Given the description of an element on the screen output the (x, y) to click on. 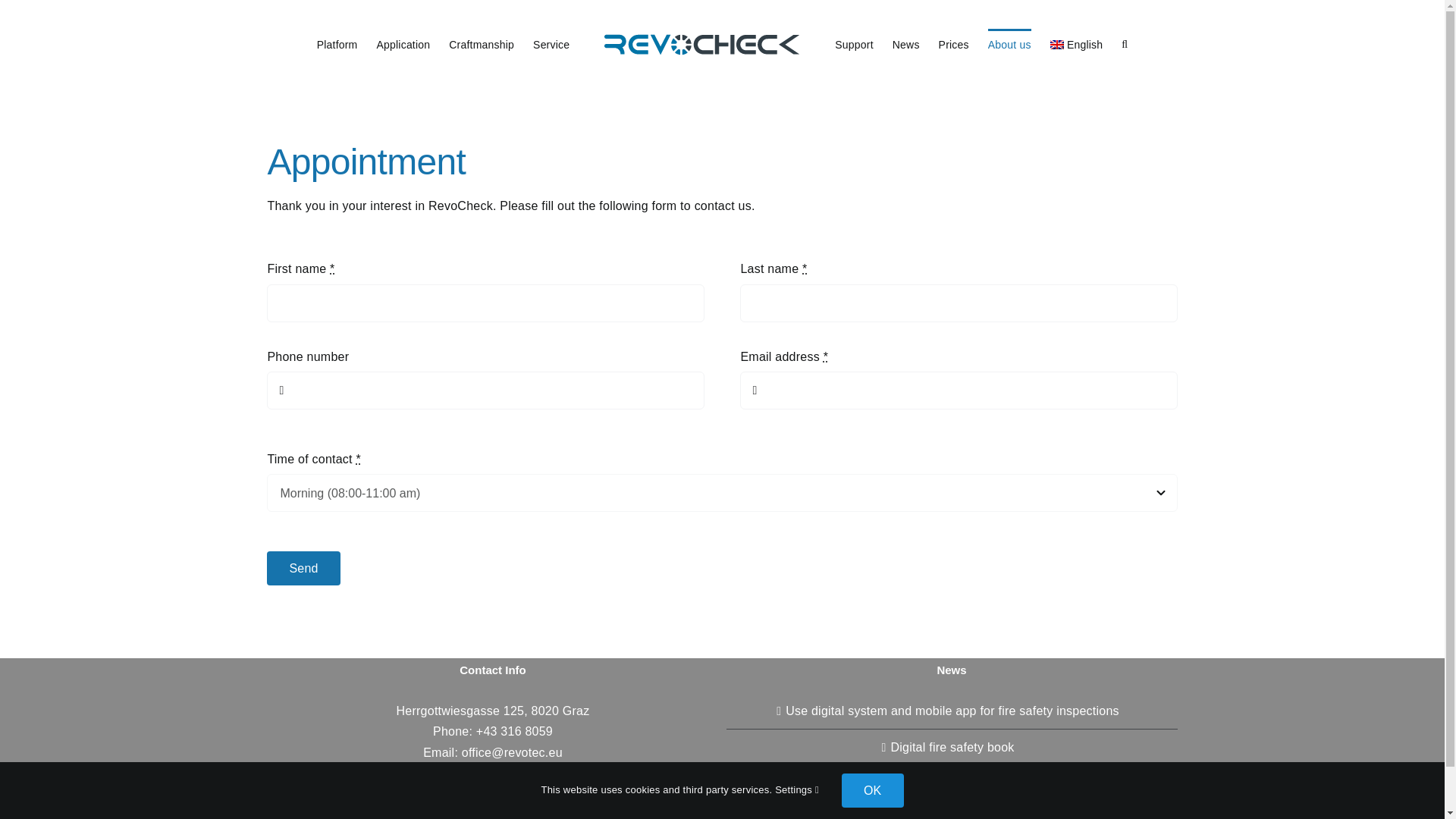
News (906, 43)
About us (1009, 43)
Application (402, 43)
English (1076, 43)
English (1076, 43)
Send (721, 567)
Support (853, 43)
Prices (954, 43)
Service (550, 43)
Platform (337, 43)
Craftmanship (480, 43)
